Given the description of an element on the screen output the (x, y) to click on. 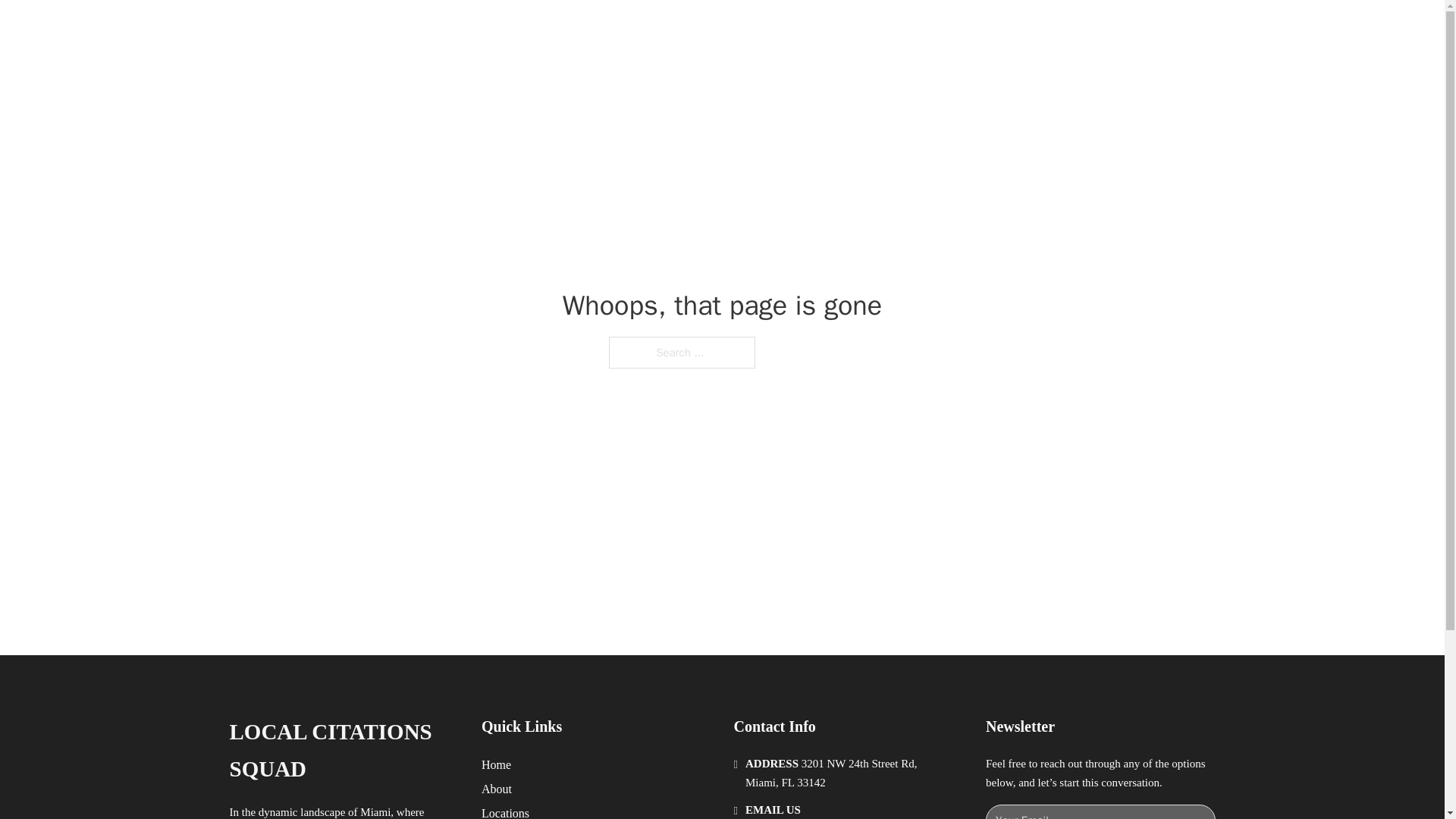
HOME (919, 29)
About (496, 788)
LOCATIONS (990, 29)
Home (496, 764)
LOCAL CITATIONS SQUAD (343, 750)
Locations (505, 811)
LOCAL CITATION SQUAD (428, 28)
